Given the description of an element on the screen output the (x, y) to click on. 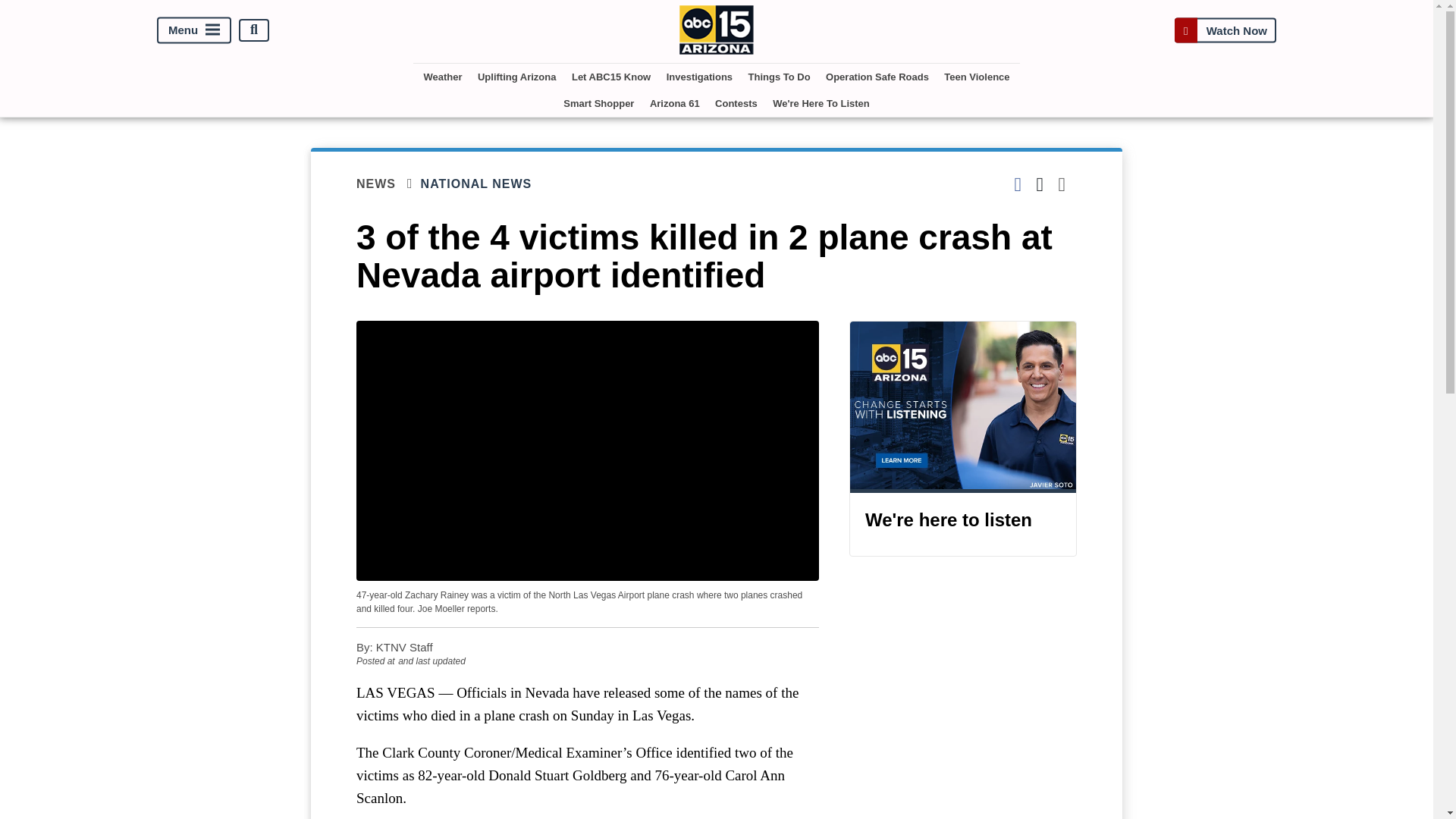
Menu (194, 29)
Watch Now (1224, 29)
